Given the description of an element on the screen output the (x, y) to click on. 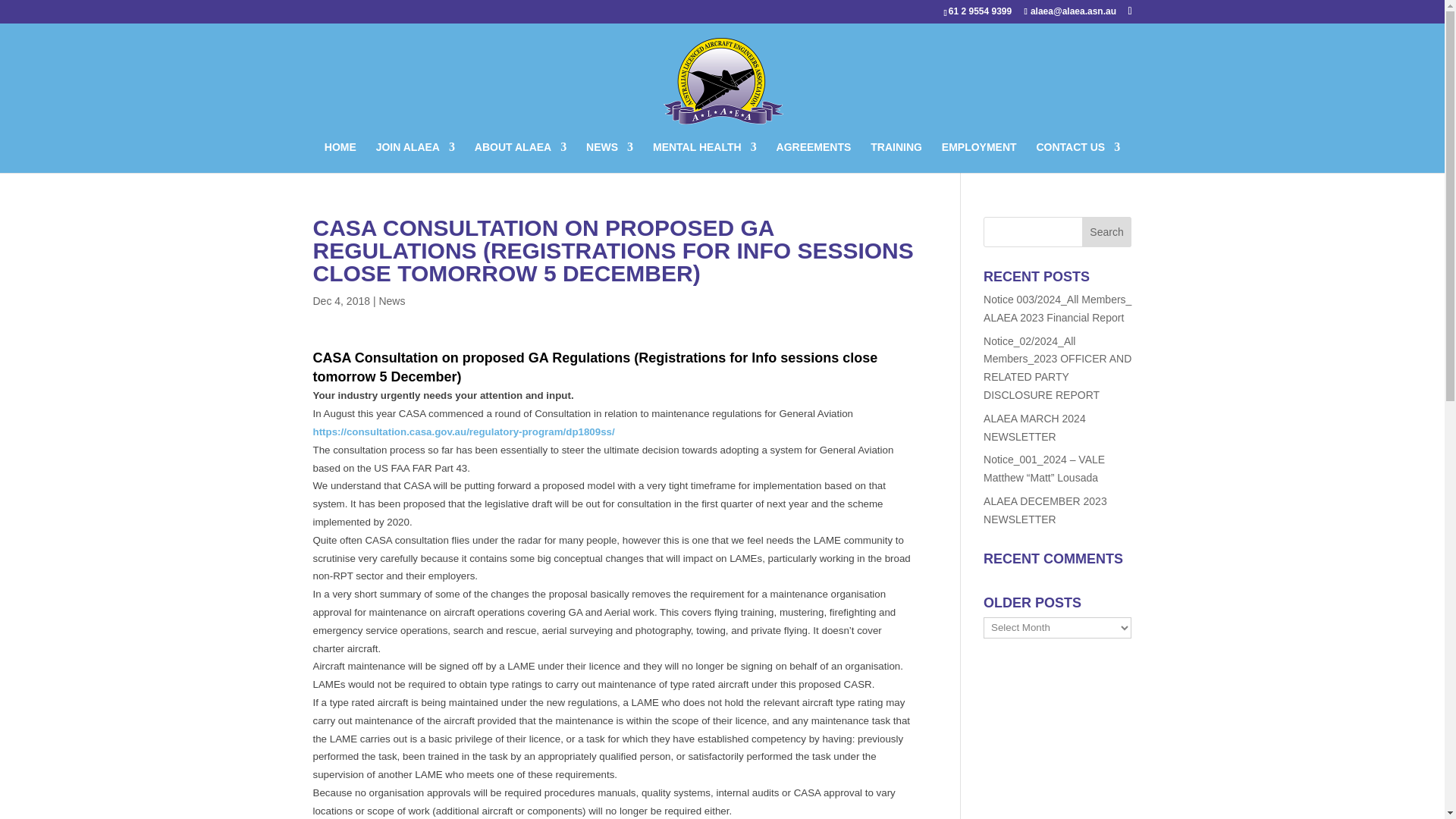
HOME (340, 156)
NEWS (609, 156)
Search (1106, 232)
61 2 9554 9399 (982, 10)
JOIN ALAEA (414, 156)
AGREEMENTS (813, 156)
MENTAL HEALTH (704, 156)
ABOUT ALAEA (520, 156)
